Given the description of an element on the screen output the (x, y) to click on. 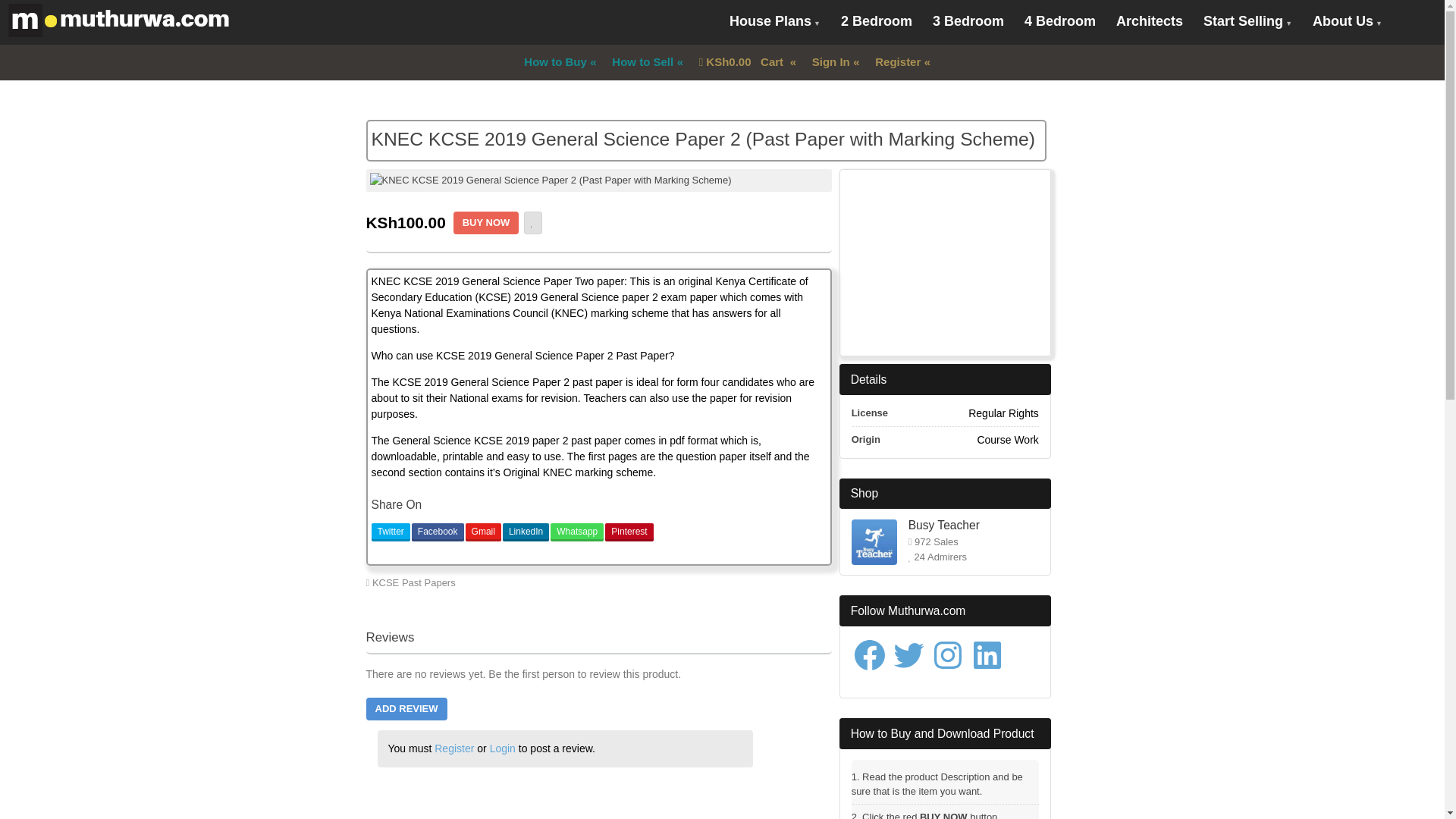
2 Bedroom (876, 20)
3 Bedroom (967, 20)
How to Sell (641, 61)
How to Buy (554, 61)
Sign In (830, 61)
BUY NOW (485, 222)
KCSE Past Papers (413, 582)
KNEC KCSE 2019 General Science Paper 2 Past Paper (716, 588)
Gmail (482, 532)
Register (897, 61)
House Plans (774, 22)
Add to Favorites (532, 222)
About Us (1347, 22)
ADD REVIEW (405, 708)
KSh0.00   Cart (742, 61)
